Given the description of an element on the screen output the (x, y) to click on. 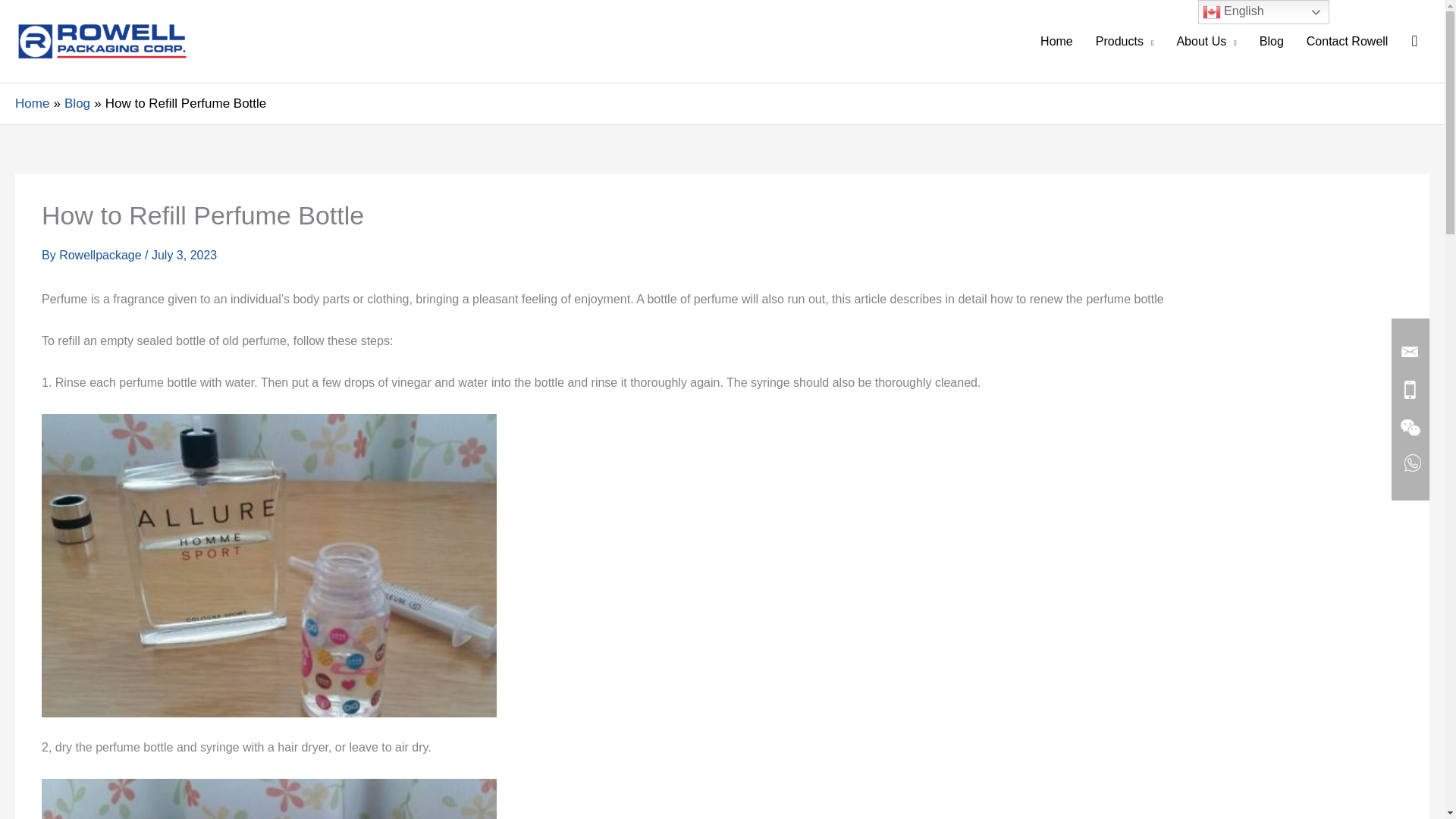
Products (1125, 41)
View all posts by Rowellpackage (101, 254)
